Given the description of an element on the screen output the (x, y) to click on. 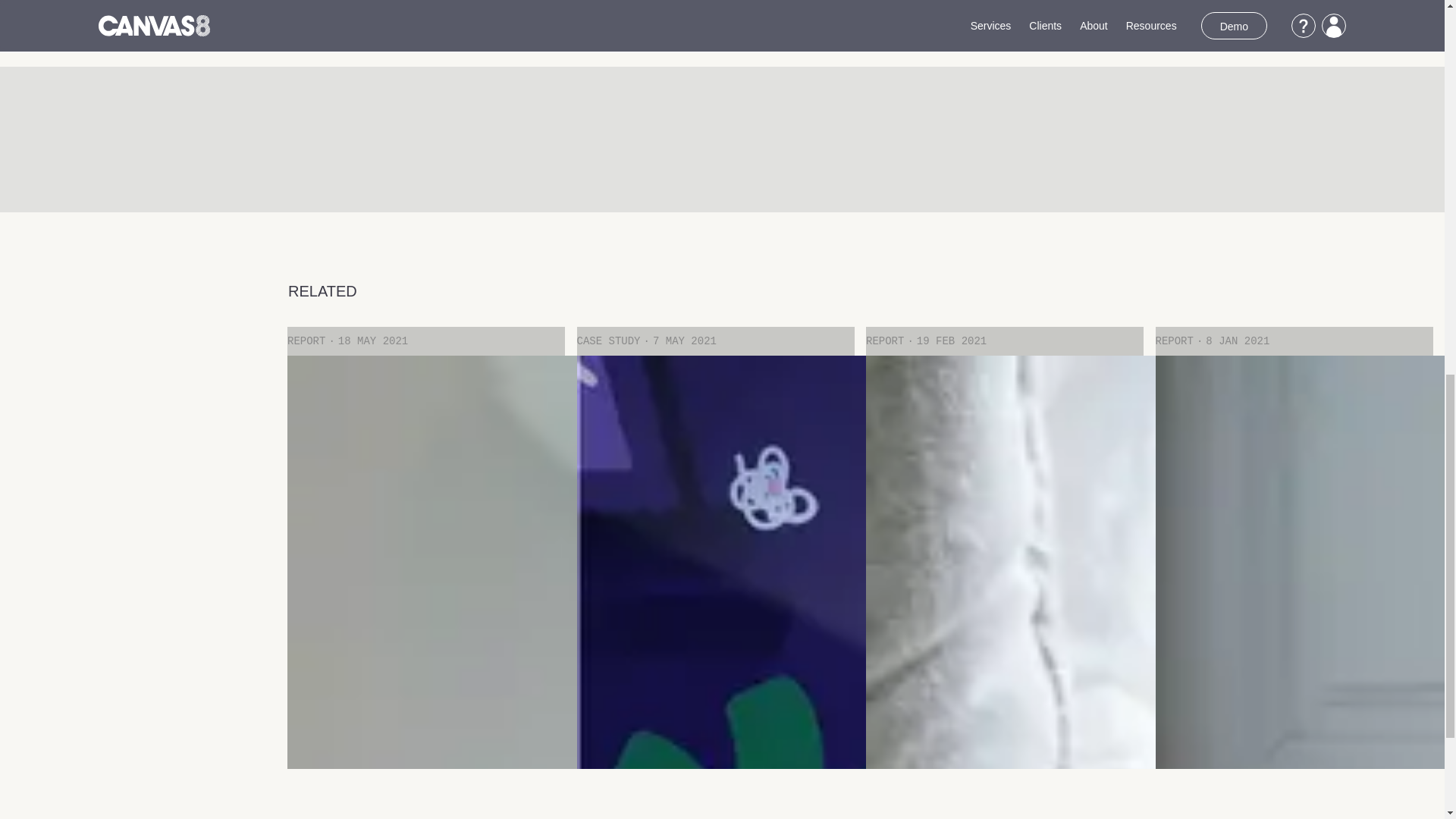
How can emotional needs be met in the digital age? (1004, 551)
Headspace x Netflix: on-demand calm (714, 551)
How do systemic challenges impact mental healthcare? (425, 551)
